Given the description of an element on the screen output the (x, y) to click on. 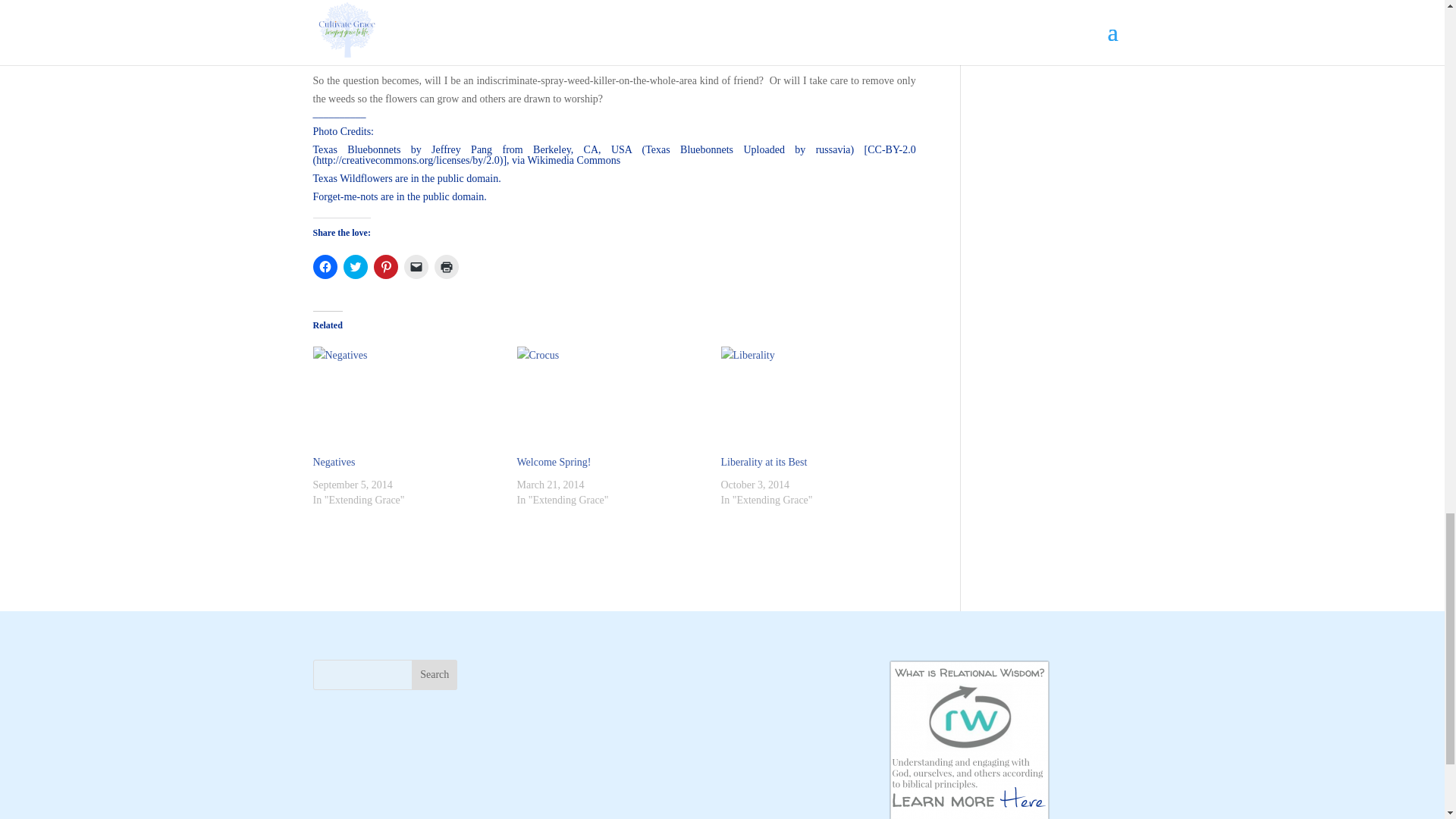
Welcome Spring! (611, 400)
Click to share on Pinterest (384, 266)
Click to email a link to a friend (415, 266)
Liberality at its Best (814, 400)
Liberality at its Best (763, 461)
Negatives (406, 400)
Click to share on Facebook (324, 266)
Click to print (445, 266)
Negatives (334, 461)
Welcome Spring! (553, 461)
